Given the description of an element on the screen output the (x, y) to click on. 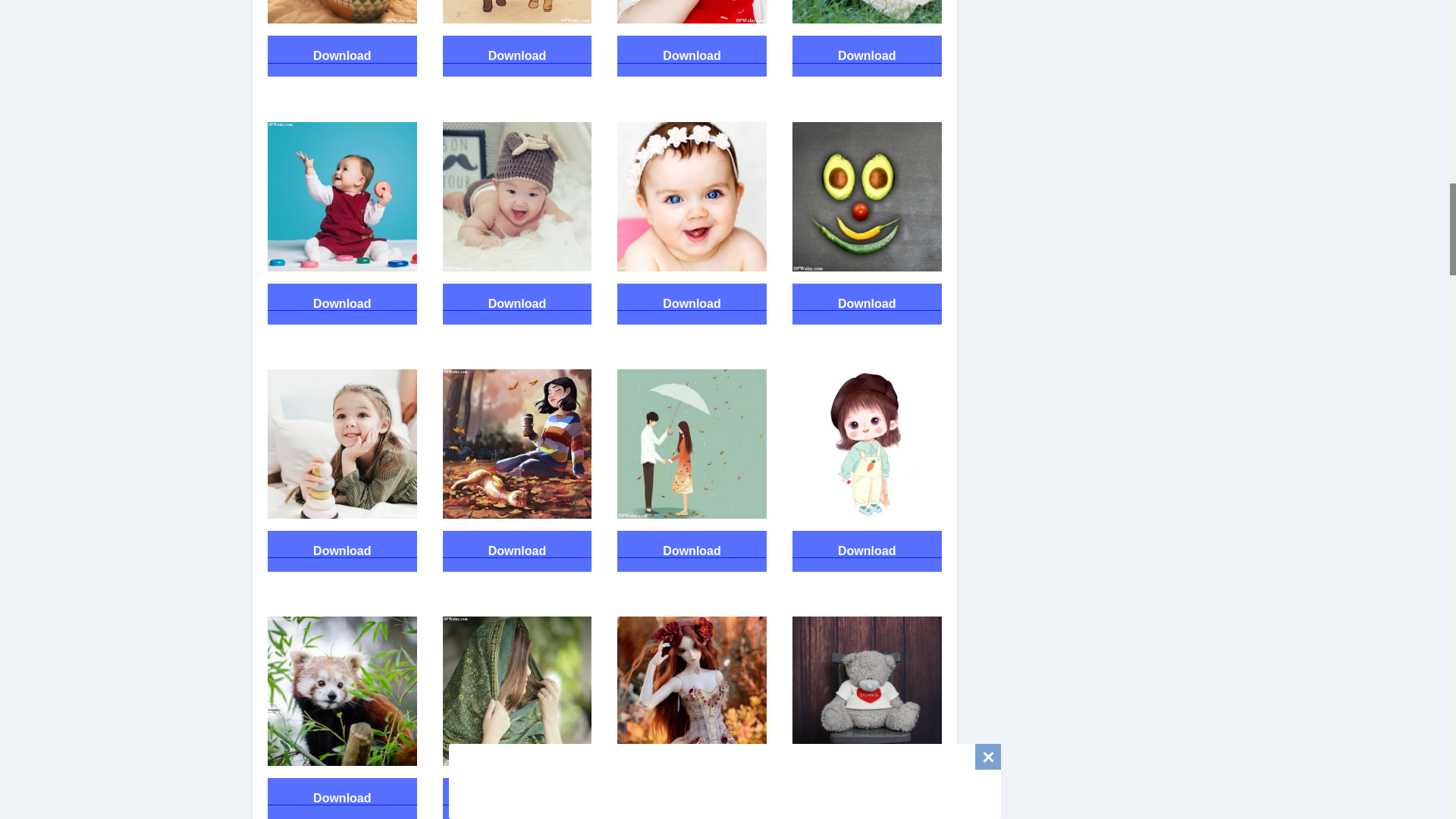
Download (341, 55)
